Given the description of an element on the screen output the (x, y) to click on. 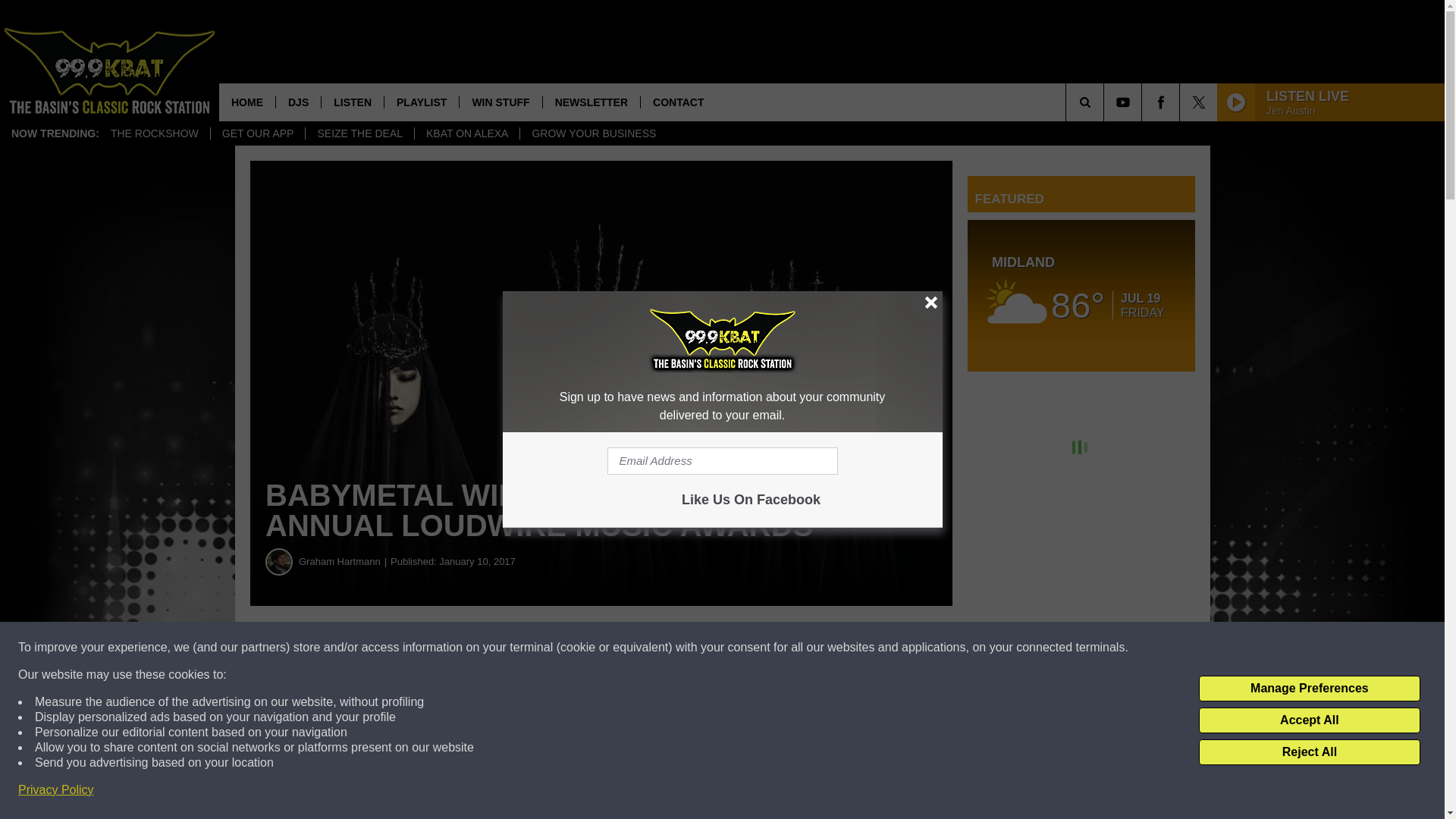
LISTEN (352, 102)
GET OUR APP (257, 133)
Reject All (1309, 751)
SEIZE THE DEAL (358, 133)
HOME (247, 102)
SEARCH (1106, 102)
NEWSLETTER (590, 102)
Privacy Policy (55, 789)
CONTACT (678, 102)
SEARCH (1106, 102)
Share on Twitter (741, 647)
Accept All (1309, 720)
THE ROCKSHOW (154, 133)
Share on Facebook (460, 647)
Manage Preferences (1309, 688)
